Given the description of an element on the screen output the (x, y) to click on. 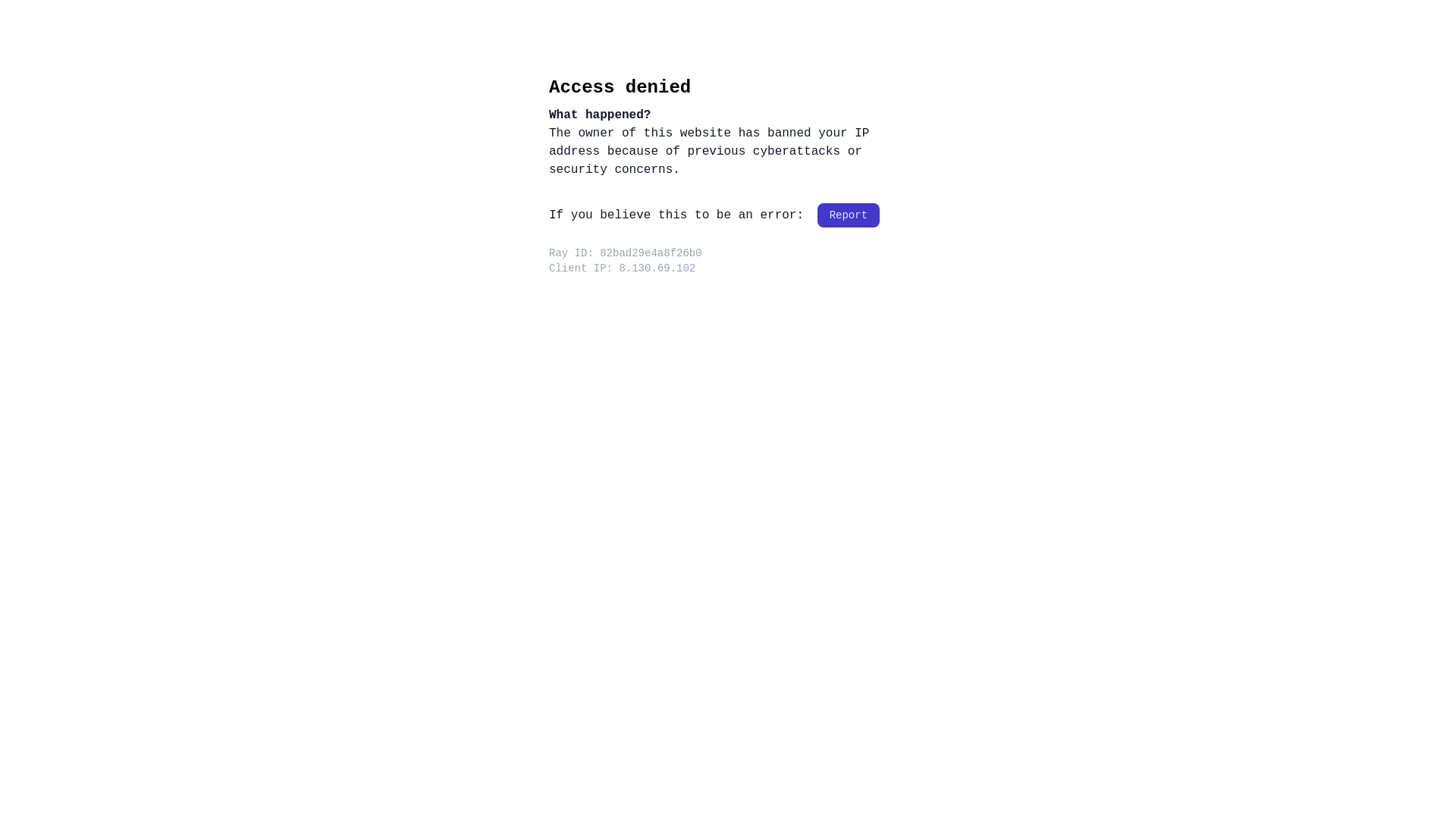
Report Element type: text (848, 215)
